Given the description of an element on the screen output the (x, y) to click on. 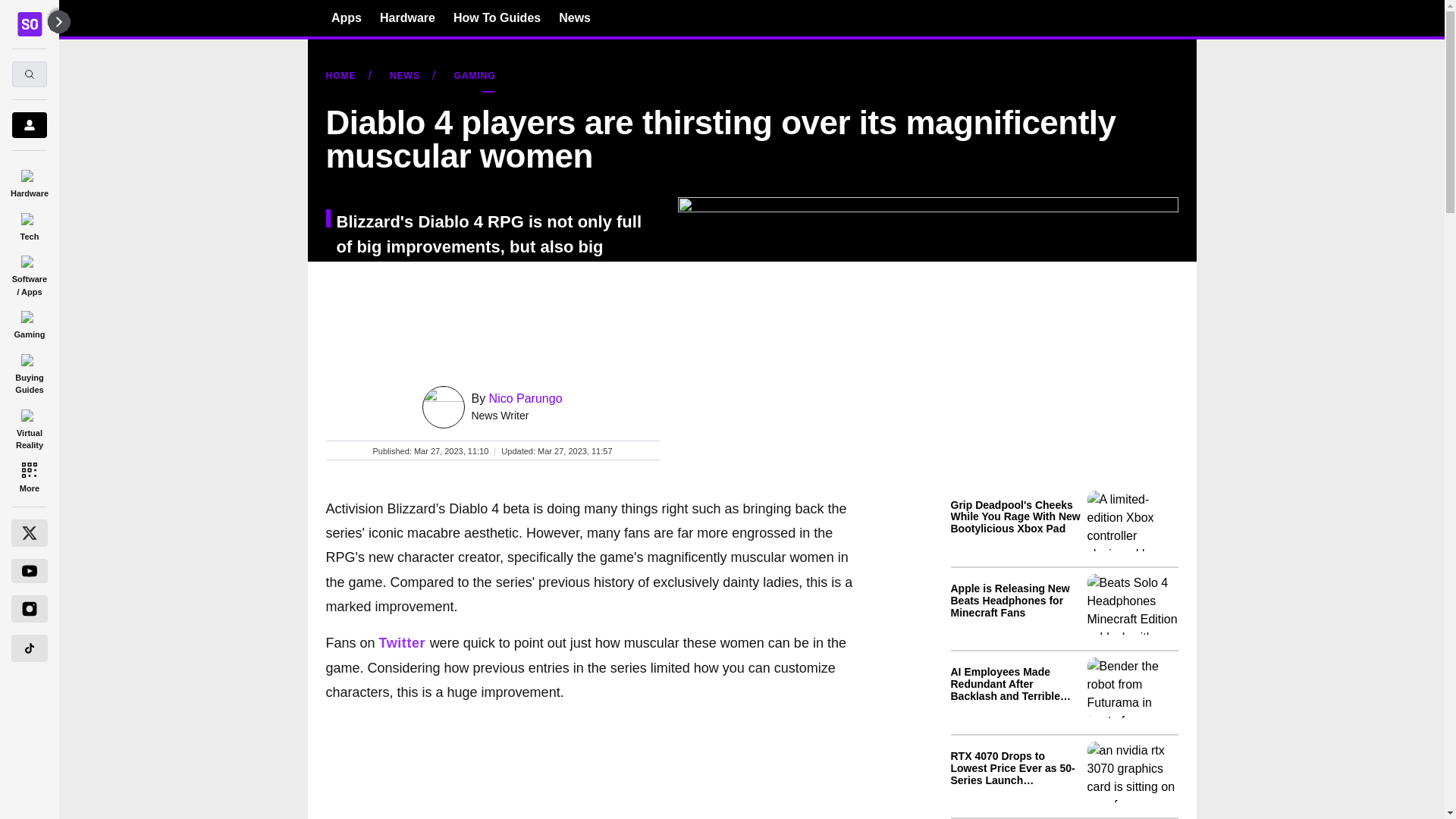
News (575, 18)
Tech (28, 224)
More (28, 476)
Hardware (28, 180)
Apps (346, 18)
Gaming (28, 322)
Hardware (407, 18)
How To Guides (496, 18)
